Given the description of an element on the screen output the (x, y) to click on. 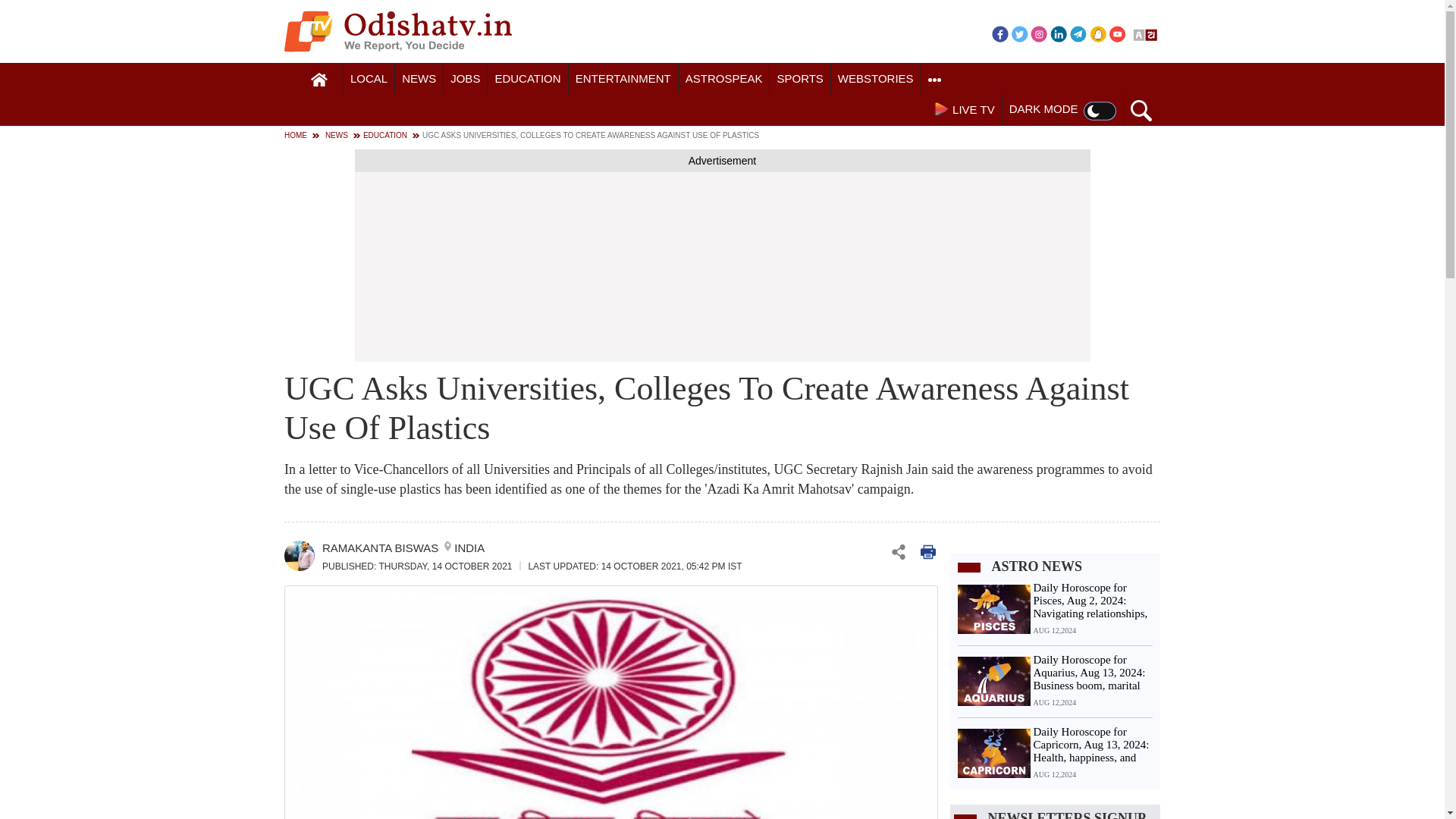
Home Icon (319, 79)
NEWS (418, 78)
Twitter (1019, 33)
EDUCATION (527, 78)
Koo (1097, 33)
Facebook (1000, 33)
News (418, 78)
Telegram (1078, 33)
JOBS (465, 78)
Youtube (1117, 33)
